Given the description of an element on the screen output the (x, y) to click on. 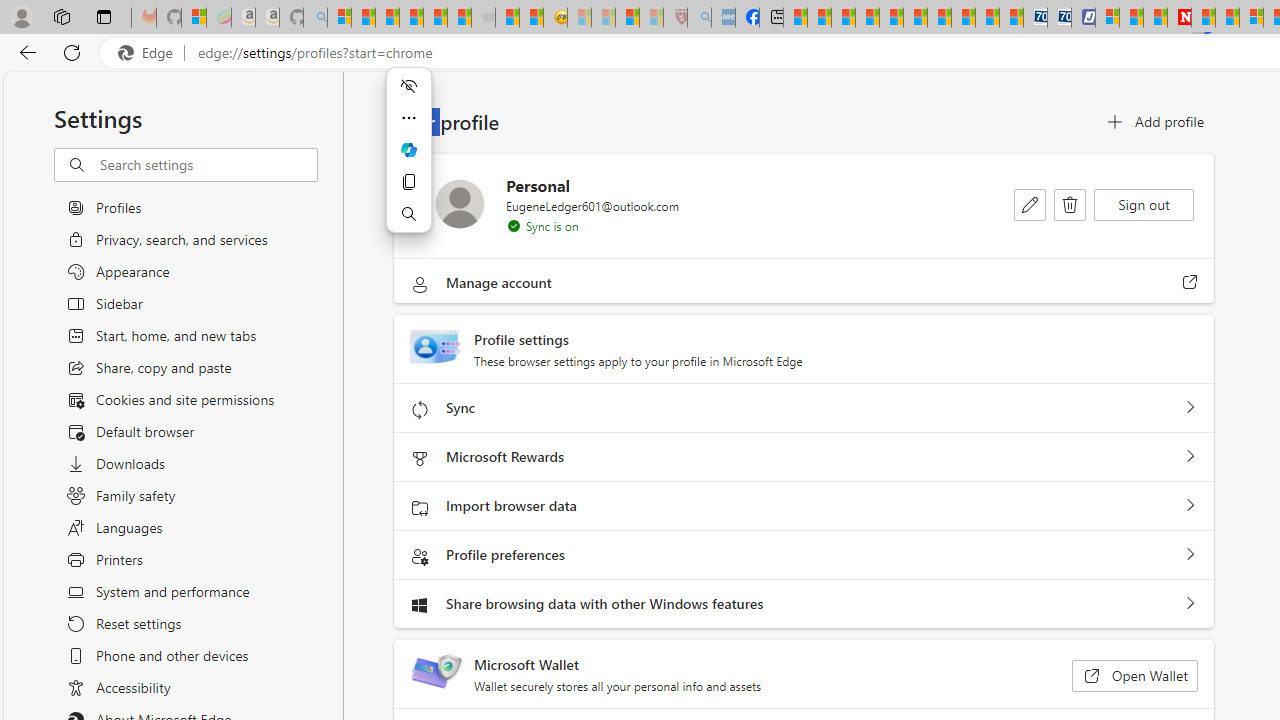
Robert H. Shmerling, MD - Harvard Health - Sleeping (675, 17)
Newsweek - News, Analysis, Politics, Business, Technology (1179, 17)
Cheap Hotels - Save70.com (1059, 17)
